Given the description of an element on the screen output the (x, y) to click on. 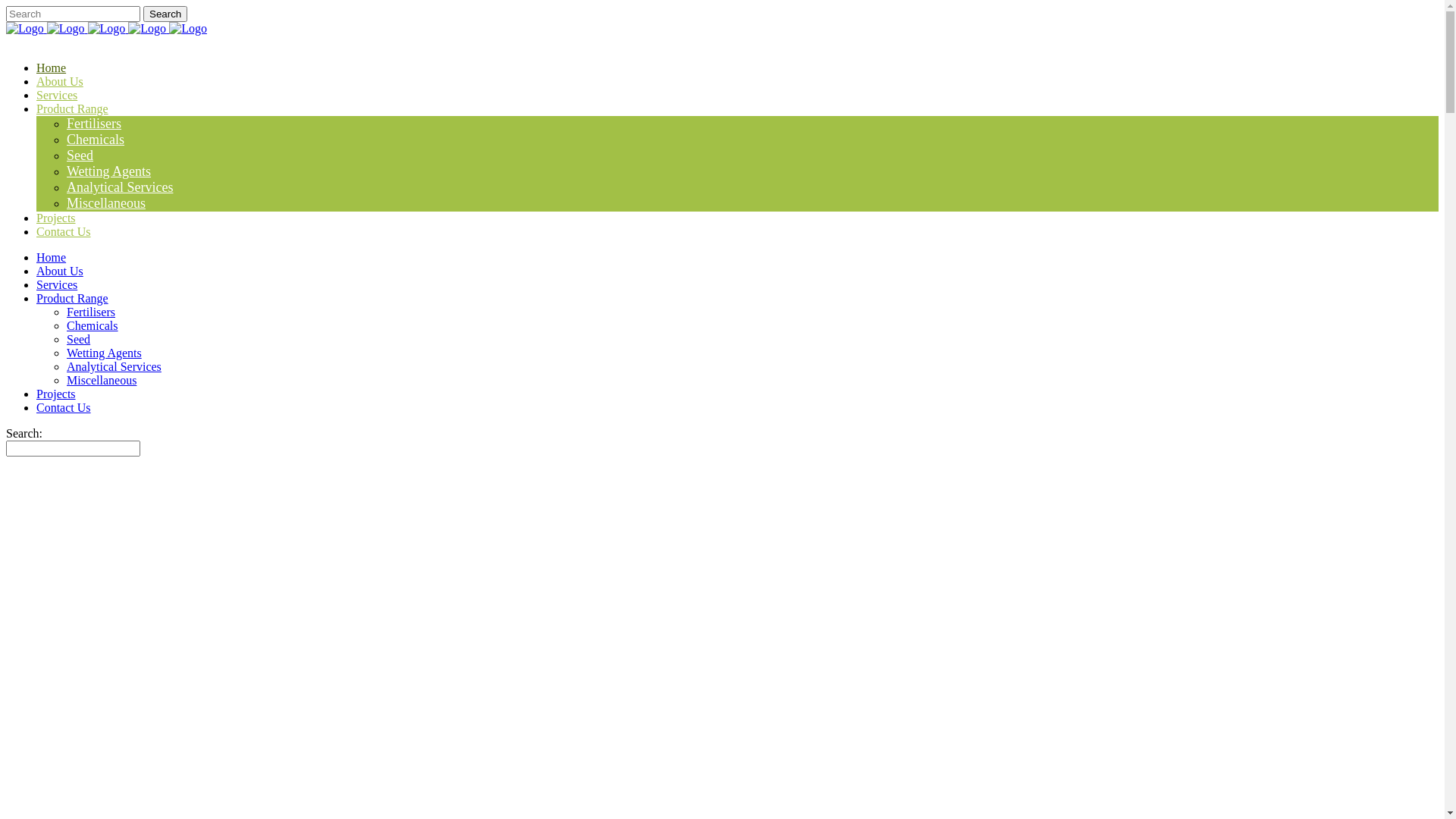
Search Element type: text (165, 13)
Projects Element type: text (55, 217)
Chemicals Element type: text (95, 139)
Contact Us Element type: text (63, 231)
Product Range Element type: text (72, 108)
Wetting Agents Element type: text (103, 352)
Seed Element type: text (79, 155)
Seed Element type: text (78, 338)
Chemicals Element type: text (92, 325)
About Us Element type: text (59, 270)
Miscellaneous Element type: text (101, 379)
Wetting Agents Element type: text (108, 170)
Services Element type: text (56, 94)
Product Range Element type: text (72, 297)
Home Element type: text (50, 67)
Contact Us Element type: text (63, 407)
Home Element type: text (50, 257)
Analytical Services Element type: text (119, 186)
About Us Element type: text (59, 81)
Miscellaneous Element type: text (105, 202)
Fertilisers Element type: text (93, 123)
Projects Element type: text (55, 393)
Analytical Services Element type: text (113, 366)
Services Element type: text (56, 284)
Fertilisers Element type: text (90, 311)
